Given the description of an element on the screen output the (x, y) to click on. 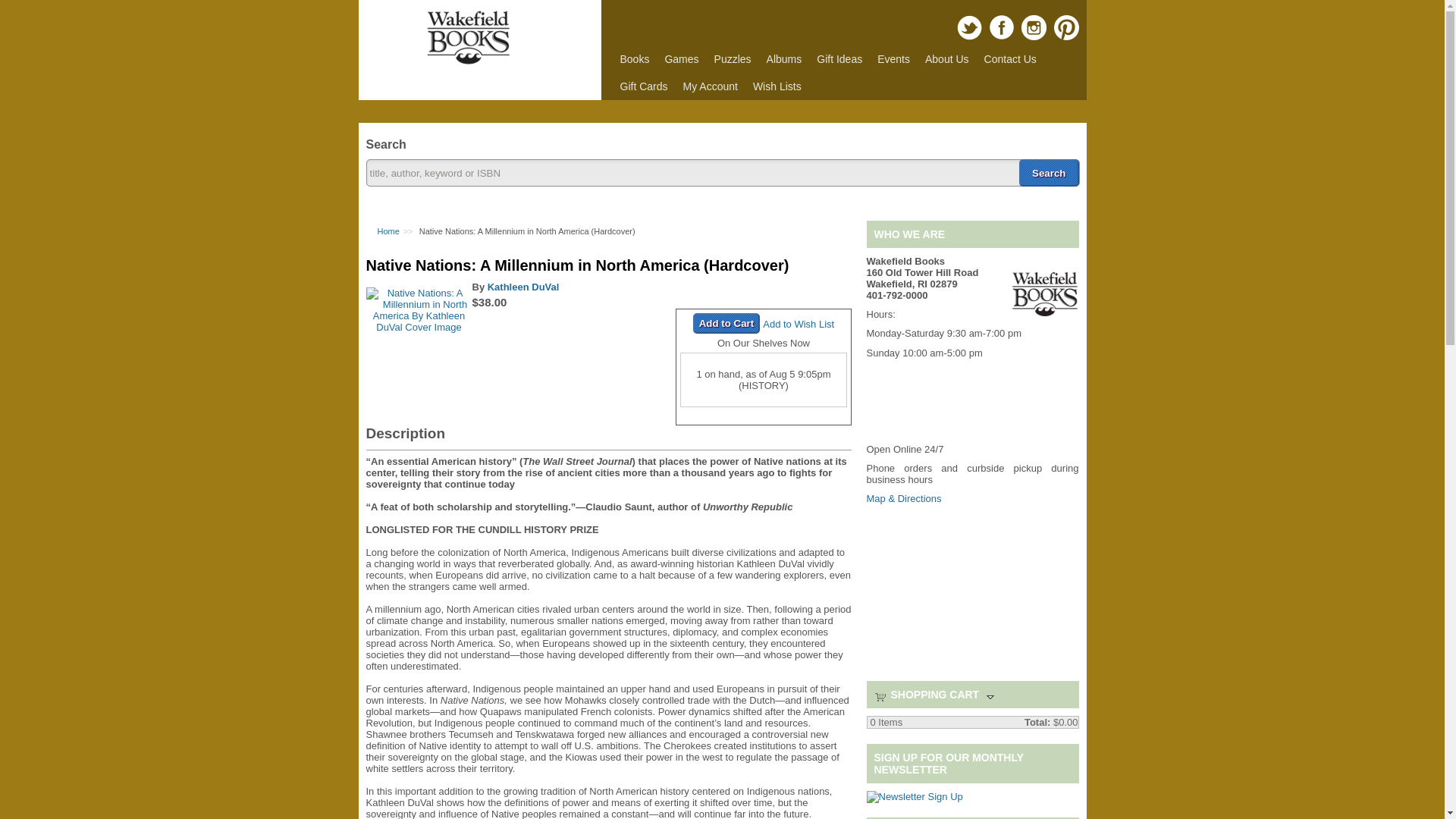
Add to Cart (726, 322)
Home (387, 230)
Home (467, 60)
Events (893, 58)
Puzzles (732, 58)
Wish Lists (777, 85)
New Vinyl (783, 58)
Add to Cart (726, 322)
Enter the terms you wish to search for. (721, 172)
Gift Ideas (839, 58)
Albums (783, 58)
Kathleen DuVal (523, 285)
Wish List Search  (777, 85)
My Account (710, 85)
About Us (946, 58)
